Given the description of an element on the screen output the (x, y) to click on. 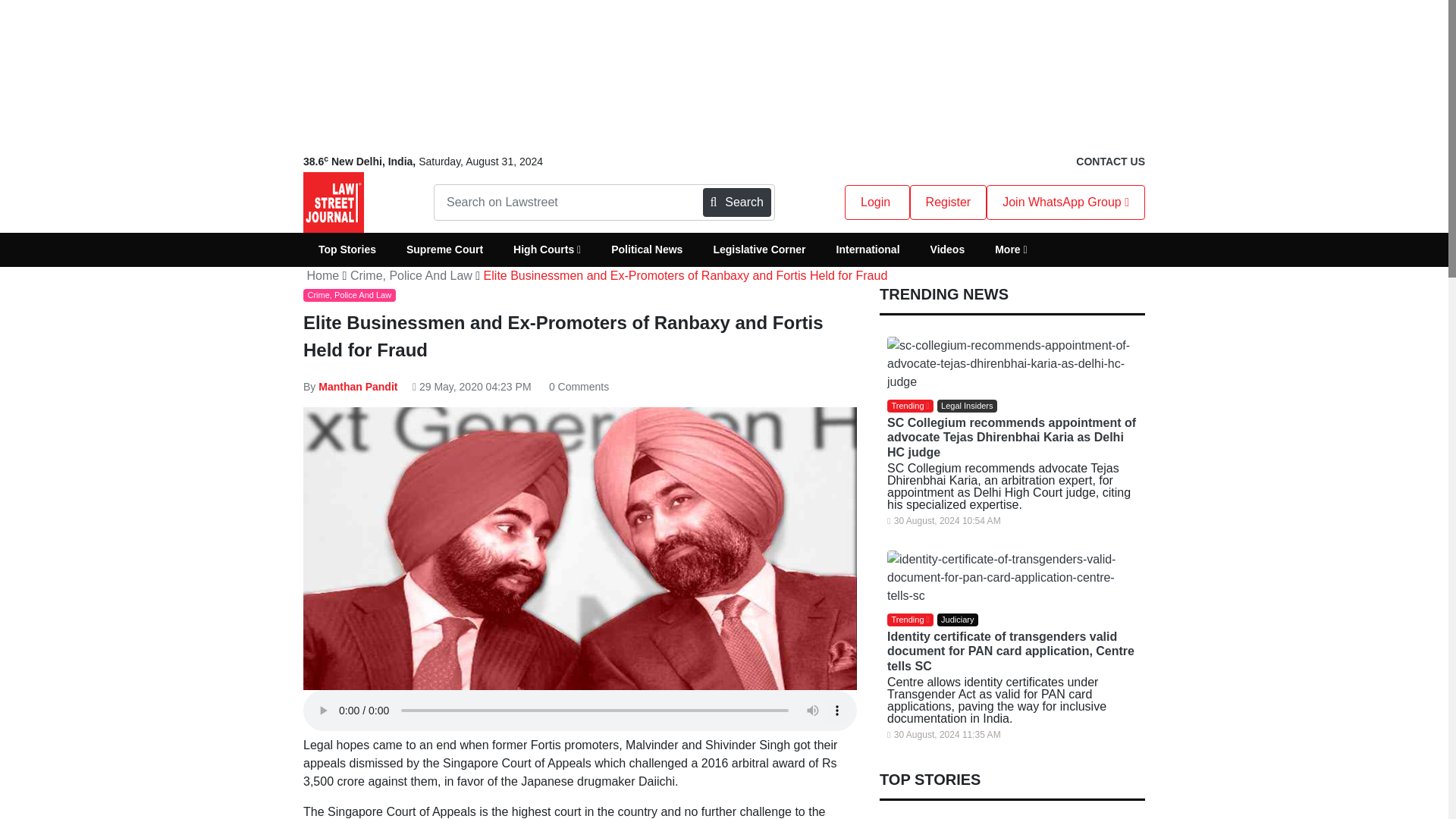
High Courts (546, 249)
Political News (646, 249)
Supreme Court (444, 249)
CONTACT US (1109, 161)
LawStreet Journal (333, 201)
Search (737, 202)
Top Stories (346, 249)
Videos (947, 249)
Legislative Corner (759, 249)
International (868, 249)
